Given the description of an element on the screen output the (x, y) to click on. 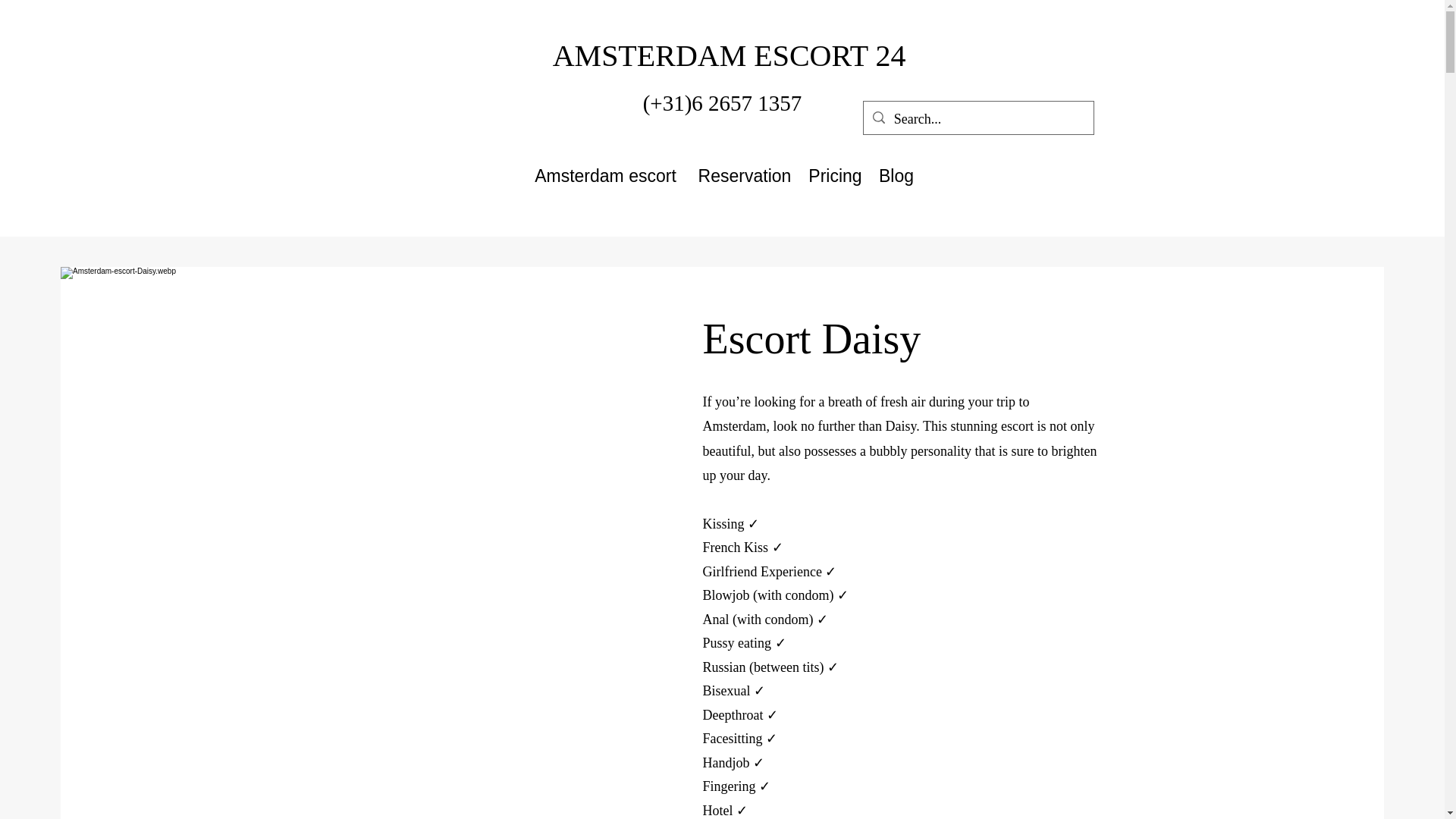
Amsterdam escort (604, 171)
Blog (895, 171)
Reservation (743, 171)
Pricing (834, 171)
AMSTERDAM ESCORT 24 (729, 55)
